Given the description of an element on the screen output the (x, y) to click on. 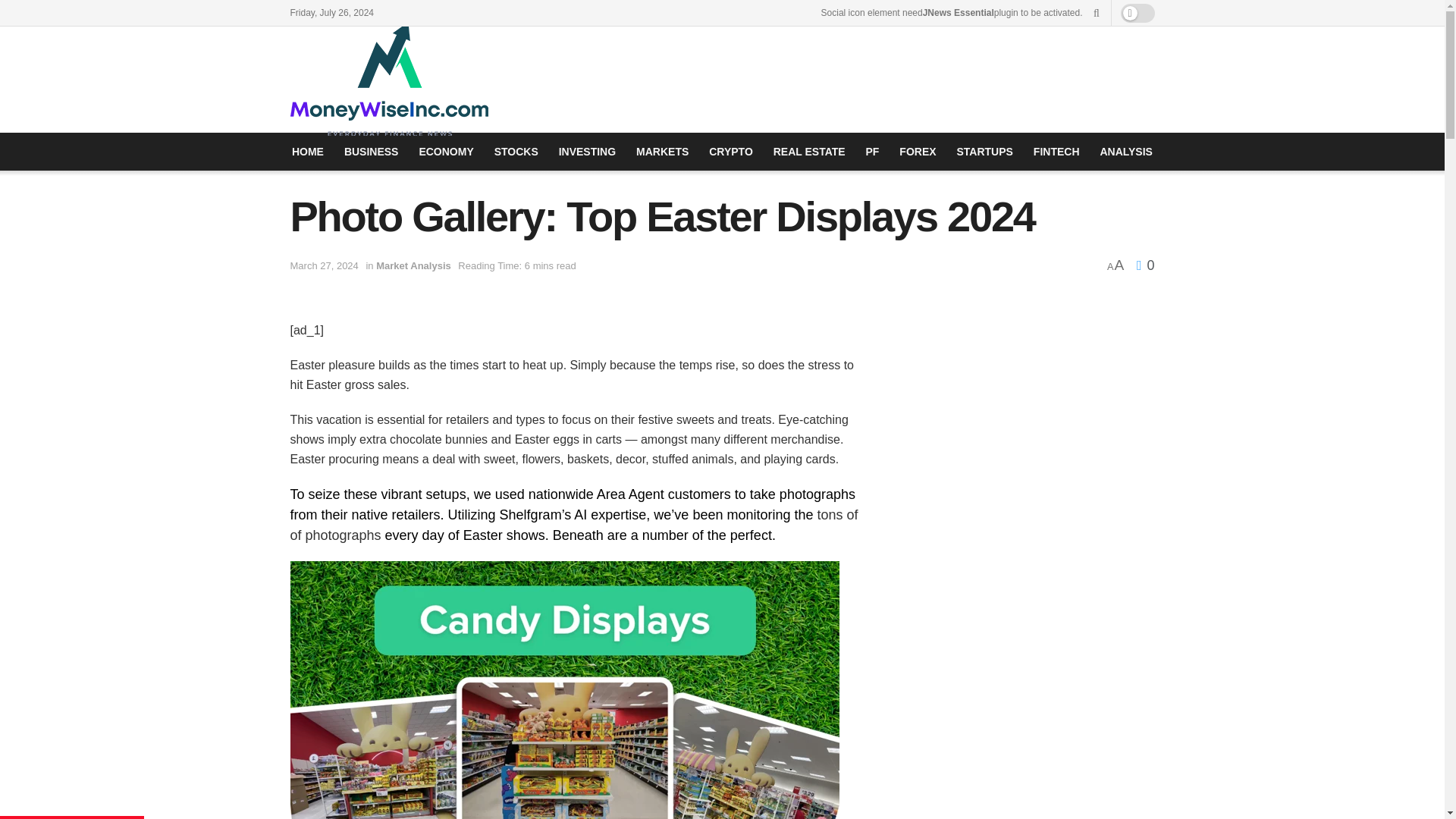
PF (871, 151)
INVESTING (586, 151)
STOCKS (516, 151)
Market Analysis (413, 265)
CRYPTO (731, 151)
March 27, 2024 (323, 265)
ECONOMY (446, 151)
ANALYSIS (1125, 151)
HOME (306, 151)
FINTECH (1055, 151)
FOREX (917, 151)
REAL ESTATE (809, 151)
MARKETS (662, 151)
STARTUPS (984, 151)
BUSINESS (371, 151)
